Given the description of an element on the screen output the (x, y) to click on. 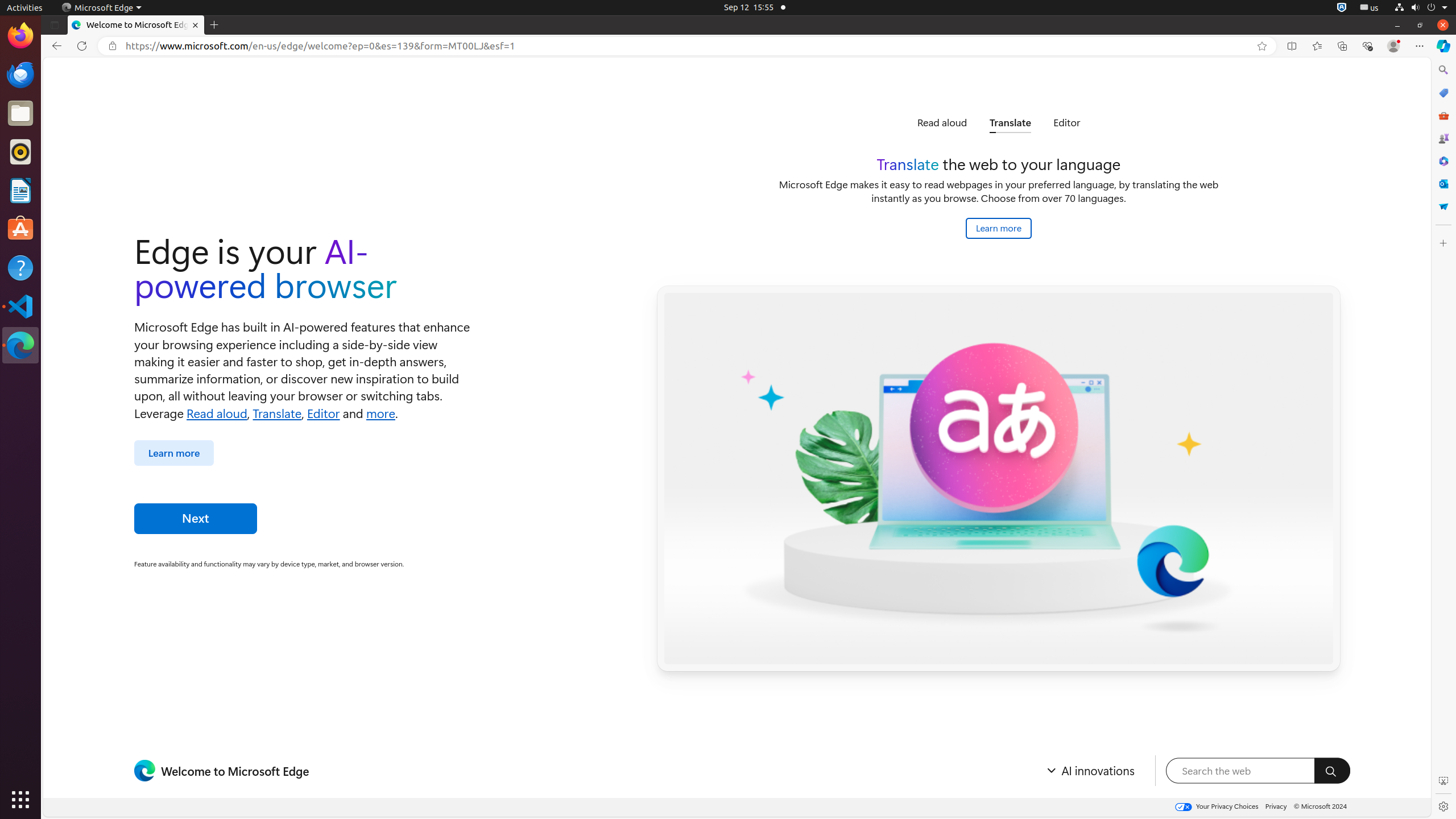
System Element type: menu (1420, 7)
Expand Menu Element type: push-button (1087, 770)
LibreOffice Writer Element type: push-button (20, 190)
Settings and more (Alt+F) Element type: push-button (1419, 45)
Close tab Element type: push-button (195, 25)
